Given the description of an element on the screen output the (x, y) to click on. 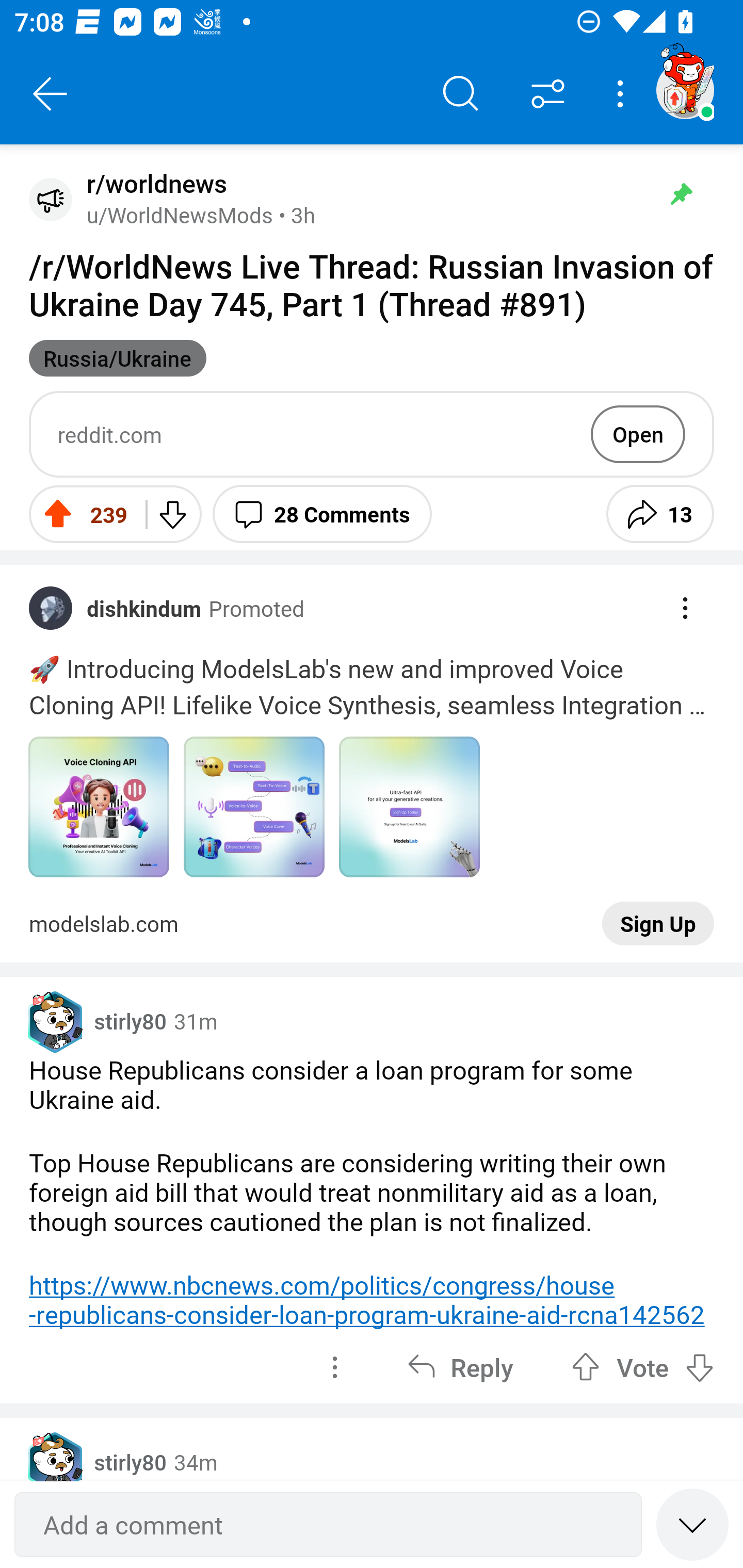
Back (50, 93)
TestAppium002 account (685, 90)
Search comments (460, 93)
Sort comments (547, 93)
More options (623, 93)
r/worldnews (153, 183)
Avatar (50, 199)
Pinned (681, 194)
Russia/Ukraine (117, 358)
reddit.com Open (371, 434)
Open (637, 434)
Downvote (171, 514)
28 Comments (321, 514)
Share 13 (660, 514)
Image 2 of 3.  (253, 807)
Image 3 of 3.  (408, 807)
options (334, 1367)
Reply (460, 1367)
Upvote Vote Downvote (642, 1367)
Speed read (692, 1524)
Add a comment (327, 1524)
